Given the description of an element on the screen output the (x, y) to click on. 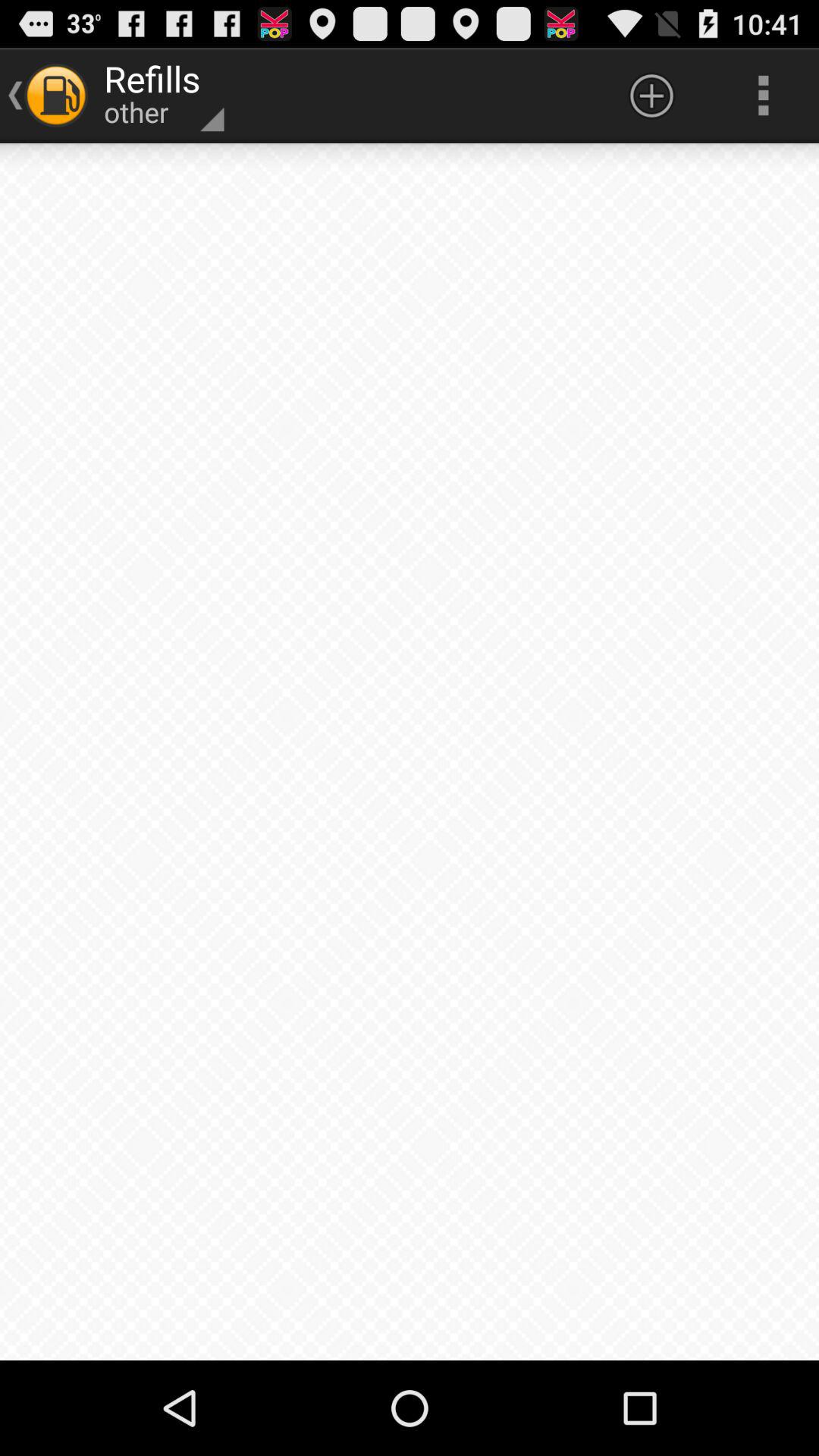
select the particular page (409, 751)
